Given the description of an element on the screen output the (x, y) to click on. 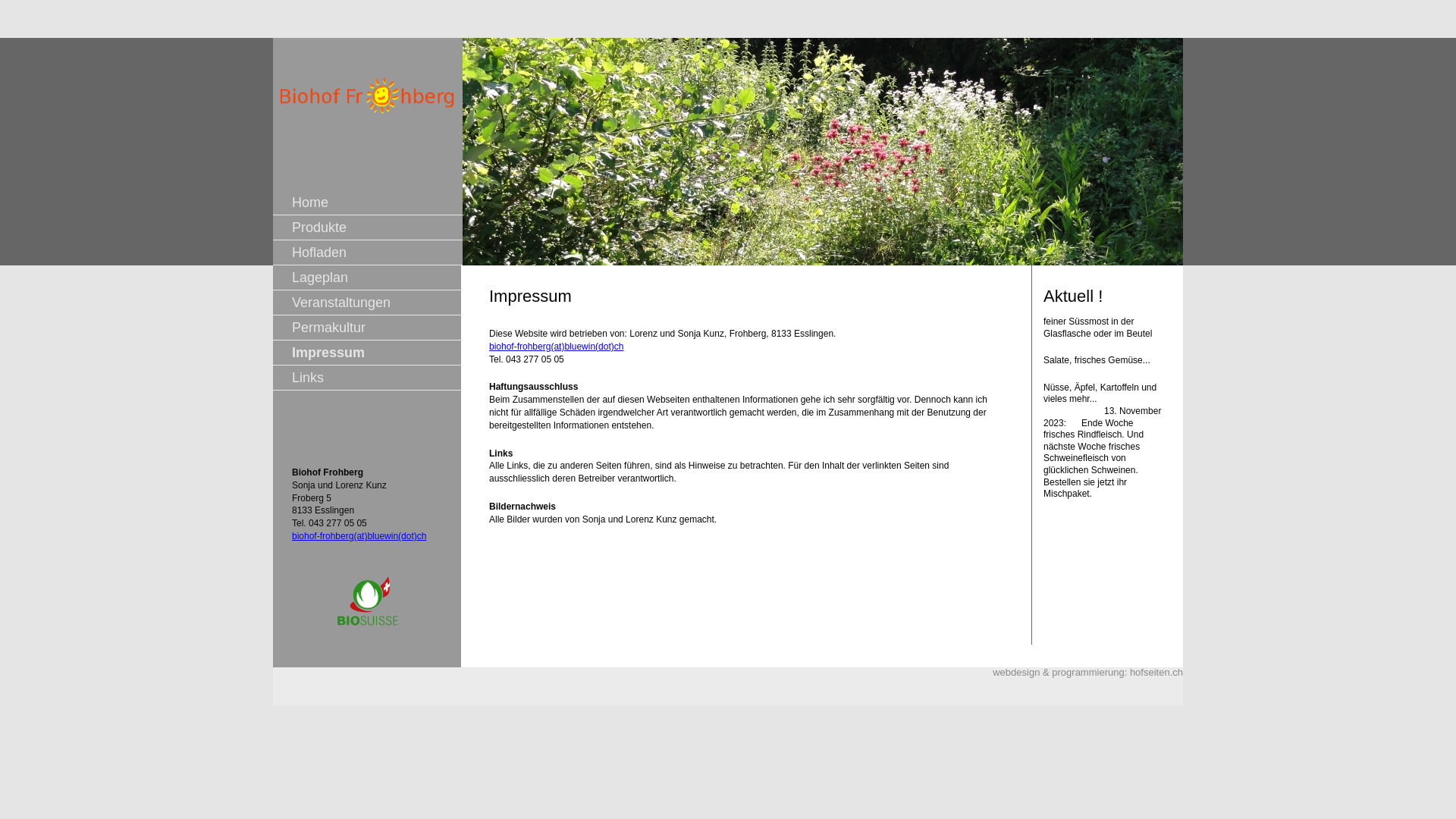
biohof-frohberg(at)bluewin(dot)ch Element type: text (358, 535)
Permakultur Element type: text (328, 327)
Impressum Element type: text (327, 352)
Home Element type: text (309, 202)
Lageplan Element type: text (319, 277)
Veranstaltungen Element type: text (340, 302)
Hofladen Element type: text (318, 252)
Produkte Element type: text (318, 227)
Links Element type: text (307, 377)
biohof-frohberg(at)bluewin(dot)ch Element type: text (556, 346)
webdesign & programmierung: hofseiten.ch Element type: text (1087, 671)
